Given the description of an element on the screen output the (x, y) to click on. 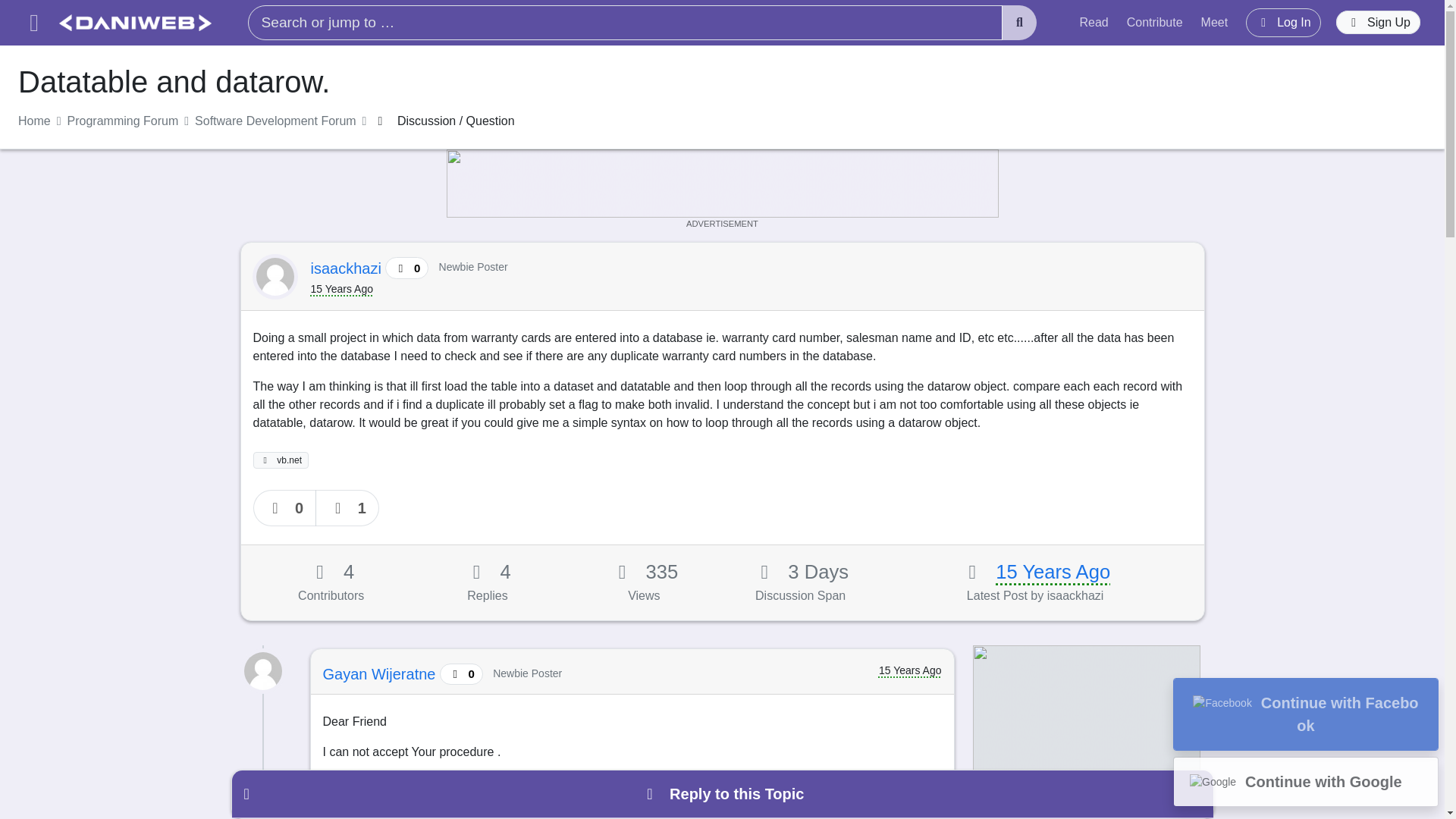
Home (33, 120)
Menu (33, 22)
1 (346, 507)
Meet (1214, 22)
3rd party ad content (721, 183)
Programming Forum (122, 120)
Search (1018, 22)
Gayan Wijeratne (382, 673)
Toggle Menu (33, 22)
DaniWeb (135, 22)
15 Years Ago (1052, 571)
Sign Up (1378, 22)
Software Development Forum (275, 120)
isaackhazi (348, 268)
vb.net (280, 460)
